Given the description of an element on the screen output the (x, y) to click on. 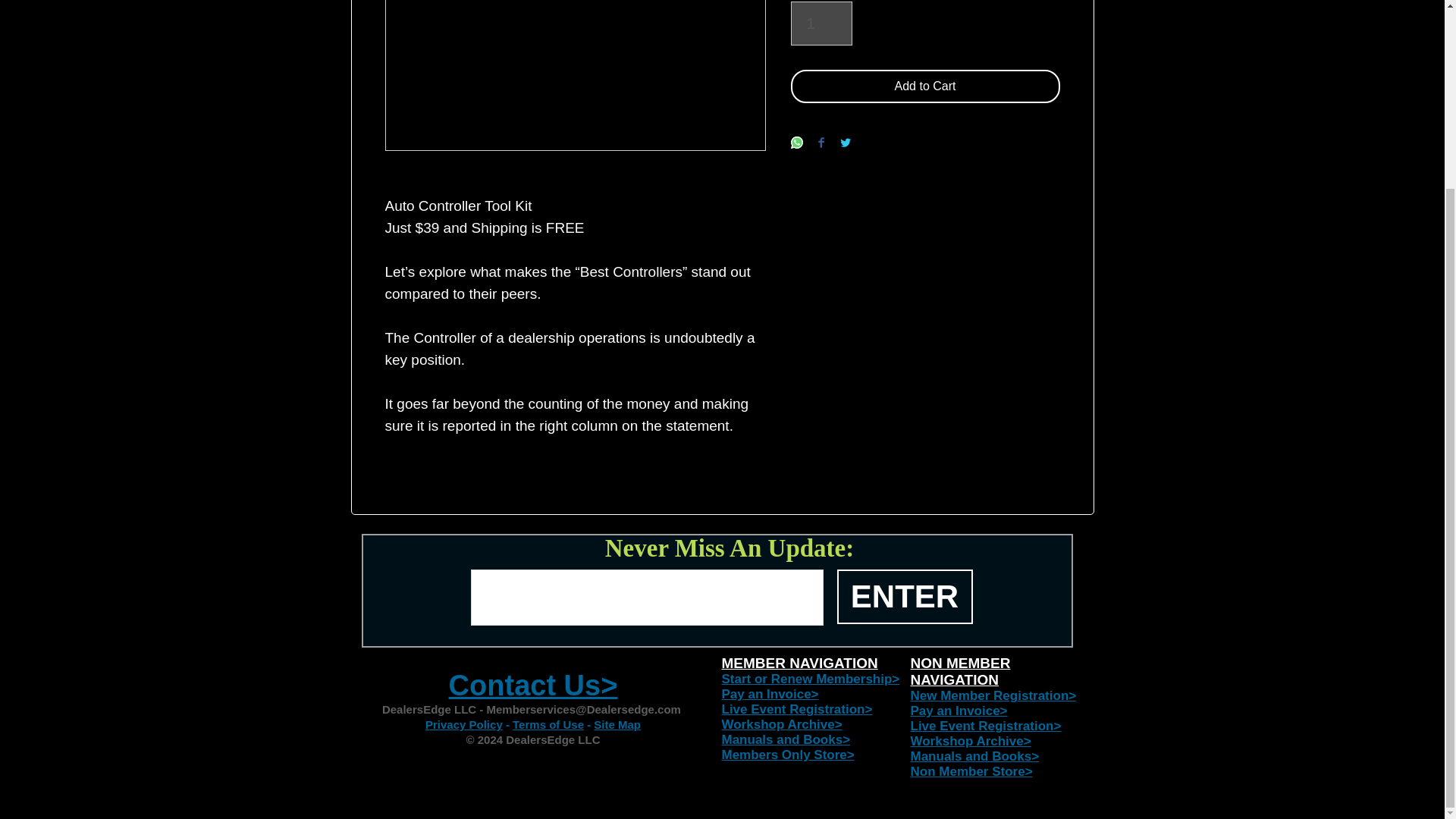
Site Map (617, 724)
Add to Cart (924, 86)
Contact (502, 685)
Terms of Use (547, 724)
1 (820, 23)
ENTER (904, 596)
Privacy Policy (463, 724)
